Given the description of an element on the screen output the (x, y) to click on. 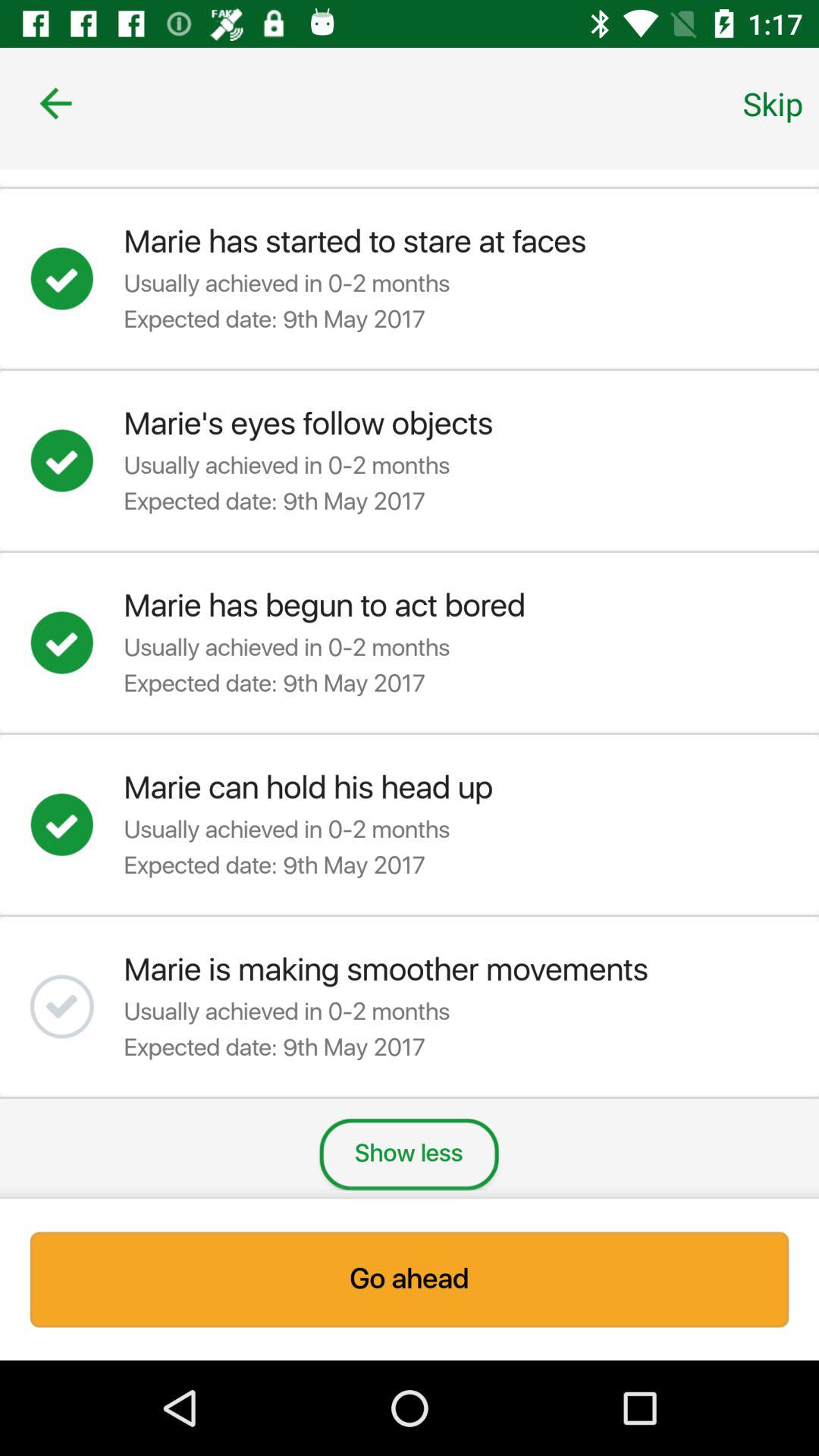
check if done (76, 460)
